Given the description of an element on the screen output the (x, y) to click on. 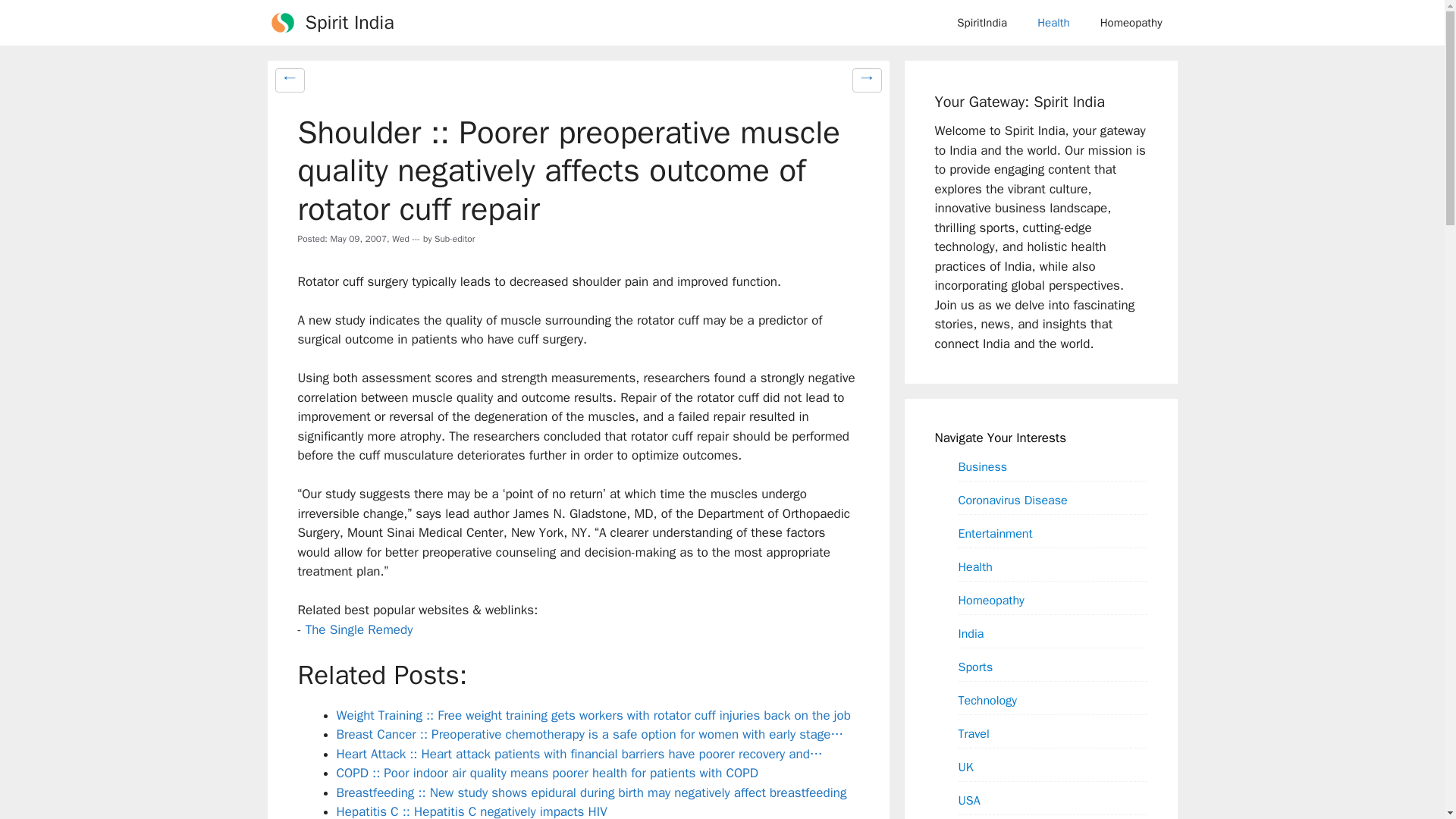
Homeopathy (991, 600)
Business (982, 466)
Coronavirus Disease (1012, 499)
Technology (987, 700)
Health (975, 566)
Sports (975, 666)
Homeopathy (1130, 22)
Hepatitis C :: Hepatitis C negatively impacts HIV (471, 811)
The Single Remedy (359, 629)
SpiritIndia (982, 22)
Entertainment (995, 533)
Travel (974, 733)
Spirit India (348, 22)
